Given the description of an element on the screen output the (x, y) to click on. 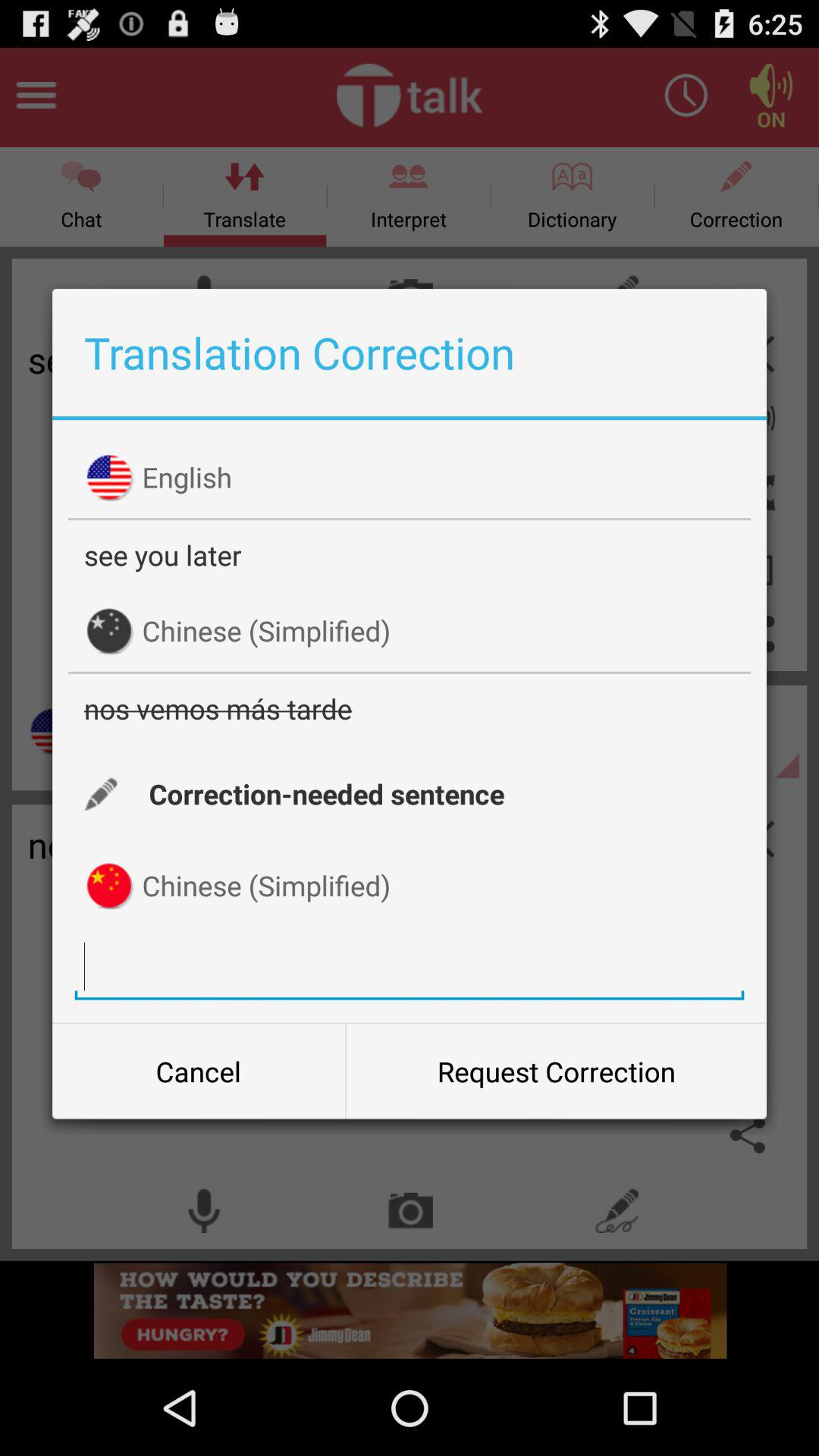
choose the icon next to cancel item (556, 1071)
